Given the description of an element on the screen output the (x, y) to click on. 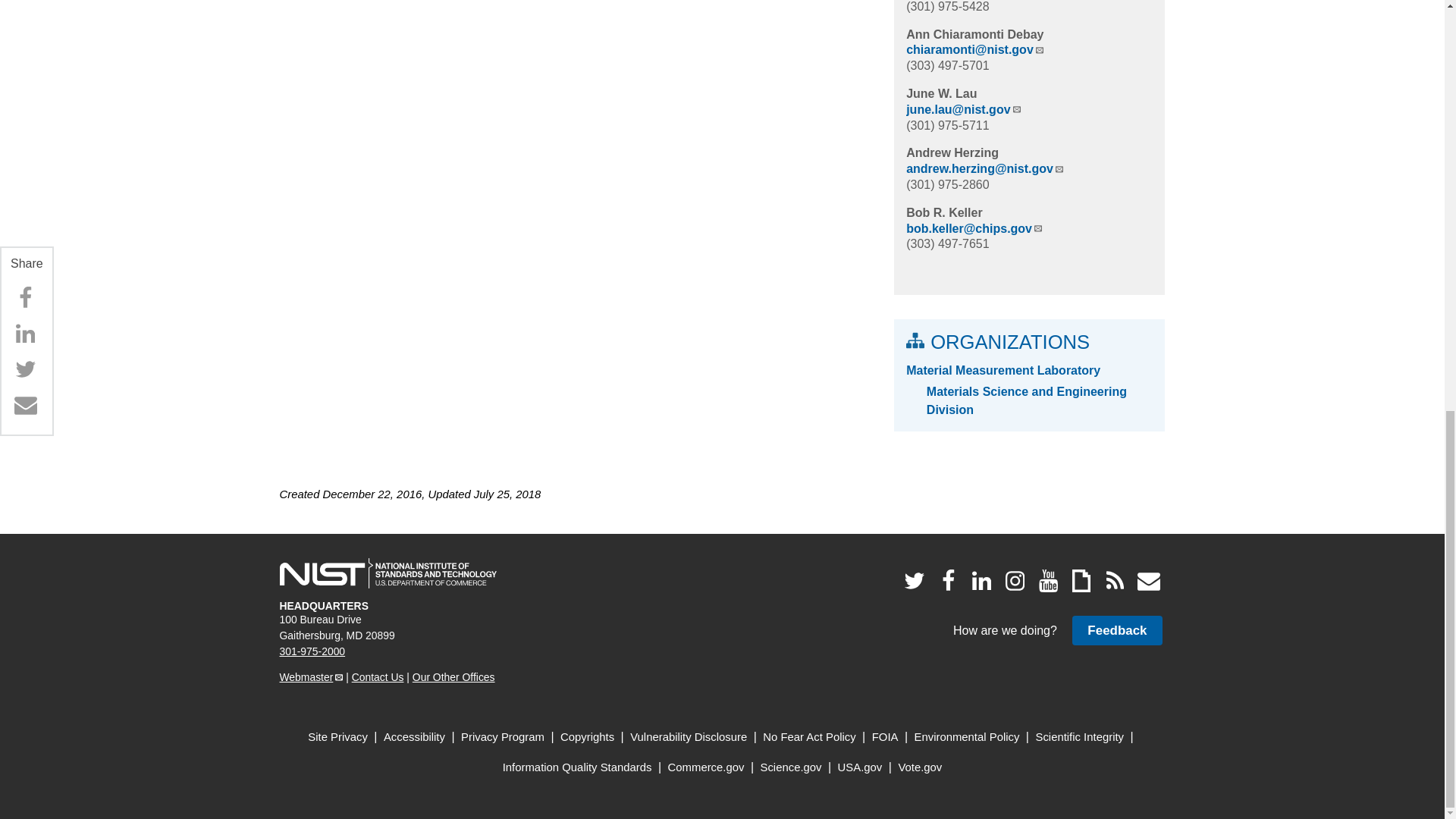
View staff profile page (951, 152)
National Institute of Standards and Technology (387, 572)
View staff profile page (940, 92)
View staff profile page (943, 212)
Ann Chiaramonti Debay (974, 33)
View staff profile page (974, 33)
Provide feedback (1116, 630)
